Given the description of an element on the screen output the (x, y) to click on. 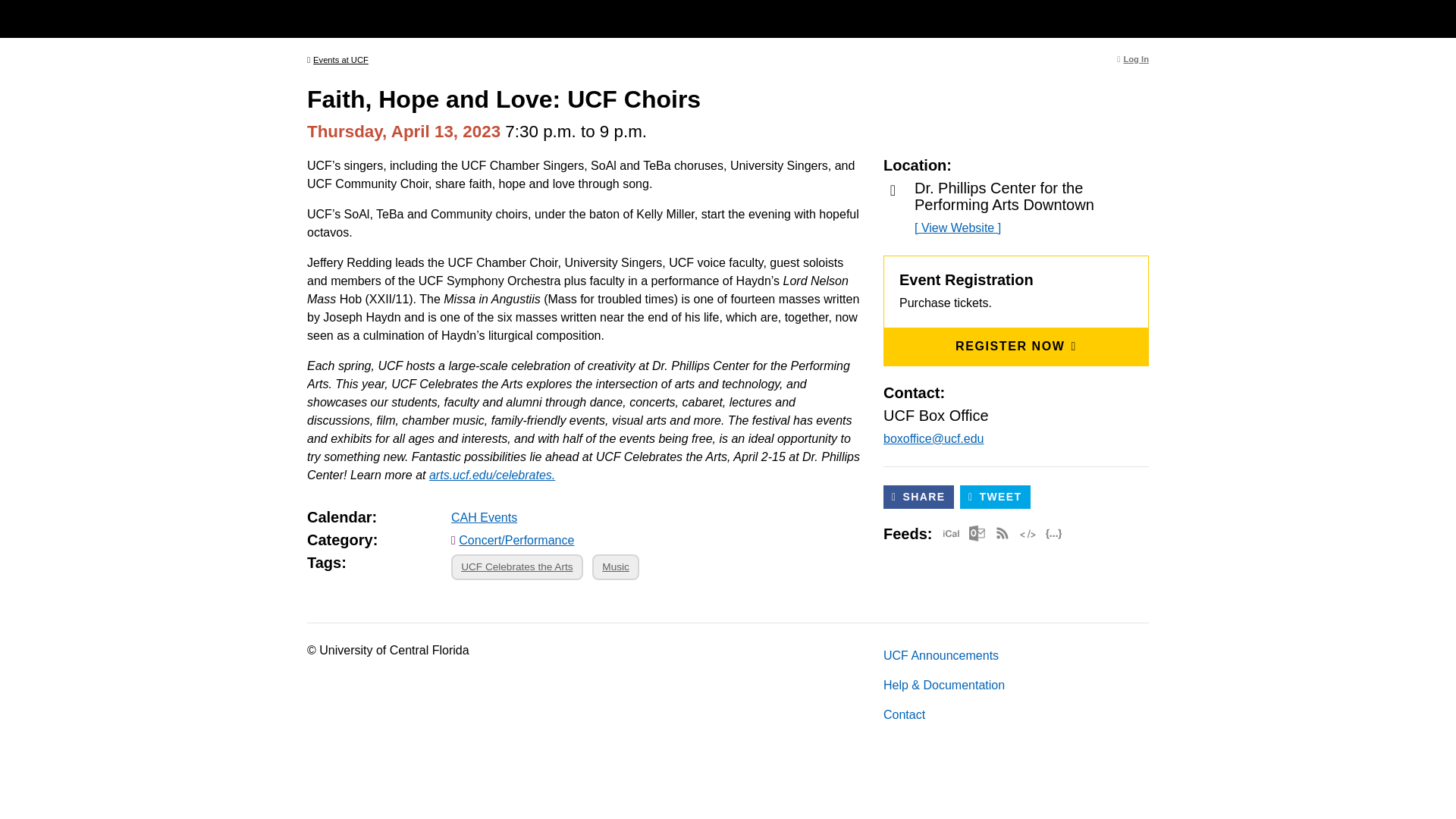
Log In (1132, 59)
Music (615, 566)
Share this content on Facebook (918, 497)
Tweet this event (994, 497)
UCF Announcements (1016, 655)
TWEET (994, 497)
CAH Events (483, 517)
REGISTER NOW (1015, 346)
Events at UCF (337, 59)
UCF Celebrates the Arts (517, 566)
